Given the description of an element on the screen output the (x, y) to click on. 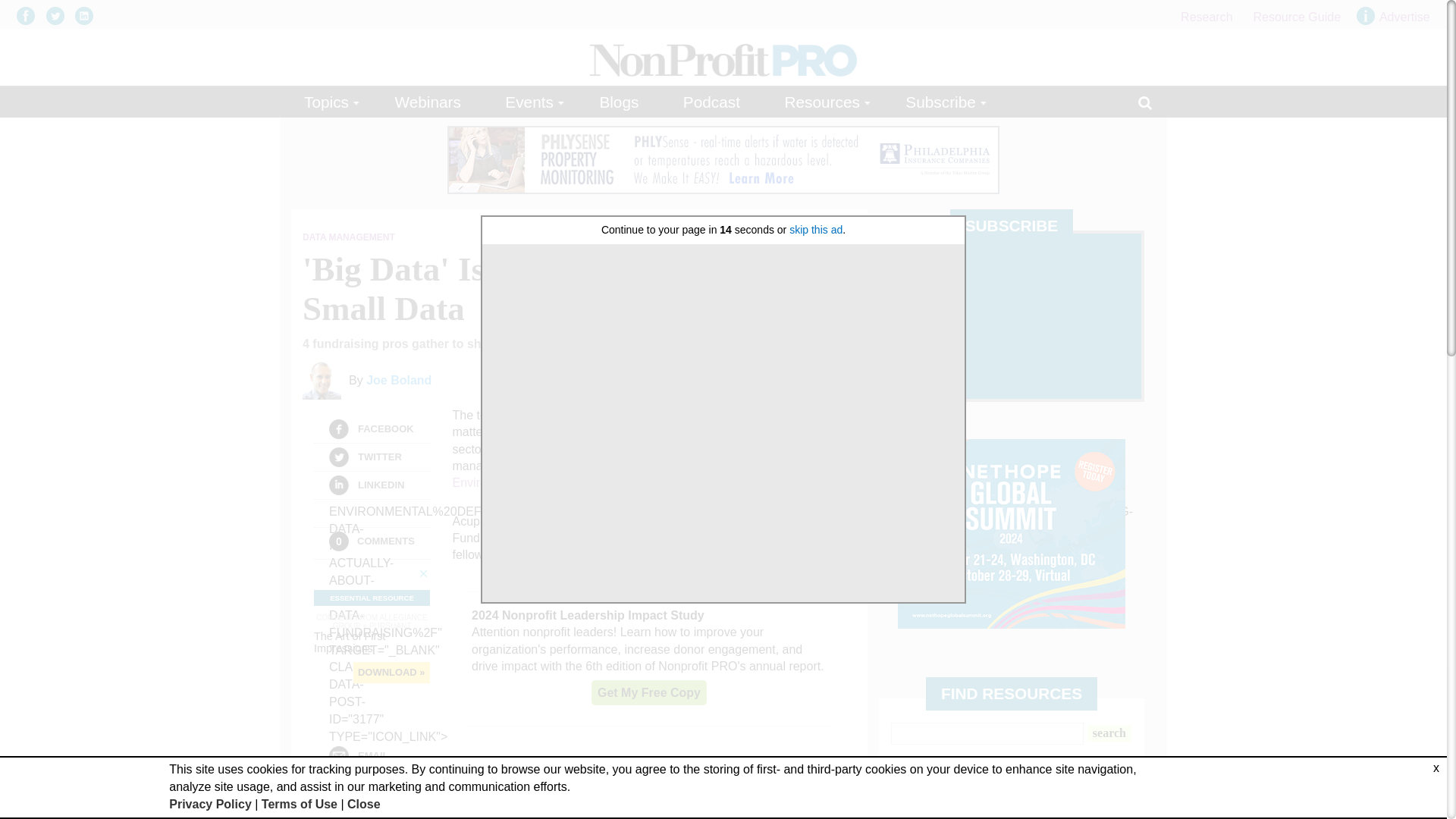
search (1109, 733)
Research (1205, 16)
Resource Guide (1296, 16)
Opens in a new window (84, 15)
Email Link (339, 513)
3rd party ad content (649, 658)
Topics (327, 101)
Opens in a new window (58, 15)
3rd party ad content (1011, 533)
Twitter (339, 456)
